Given the description of an element on the screen output the (x, y) to click on. 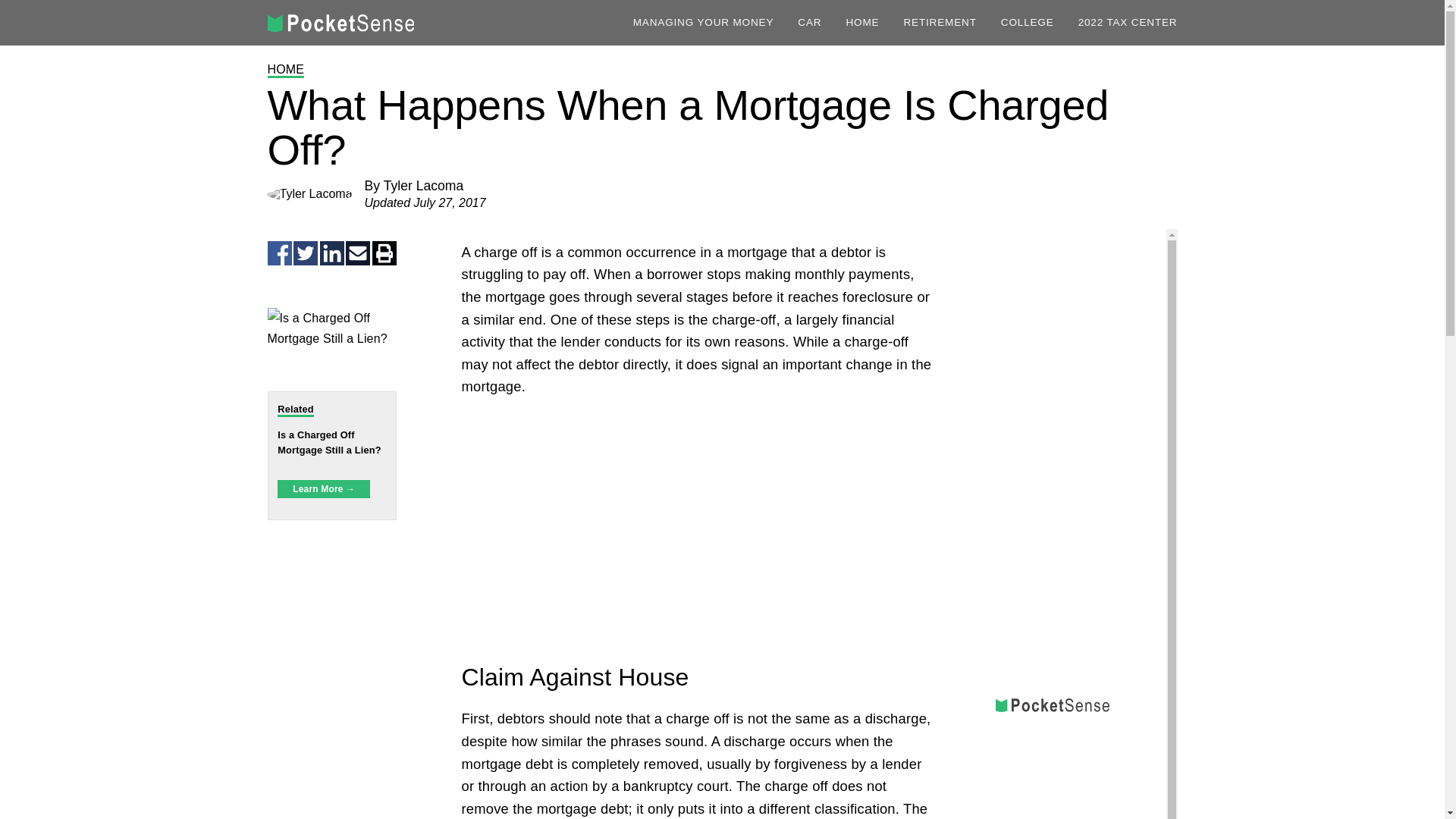
HOME (285, 70)
2022 TAX CENTER (1127, 22)
COLLEGE (1027, 22)
CAR (809, 22)
RETIREMENT (938, 22)
MANAGING YOUR MONEY (703, 22)
HOME (862, 22)
